Given the description of an element on the screen output the (x, y) to click on. 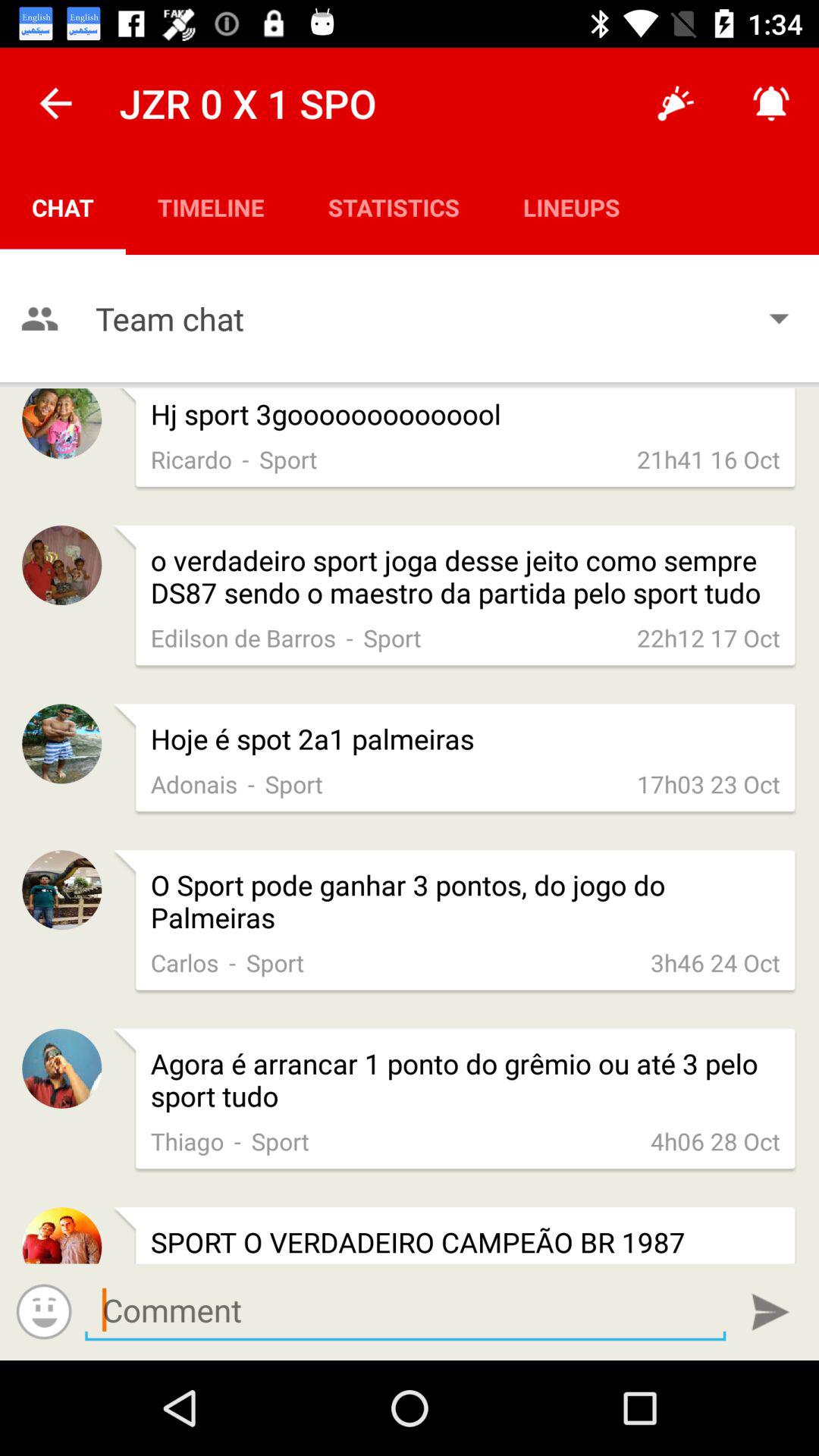
enter next message (405, 1310)
